Given the description of an element on the screen output the (x, y) to click on. 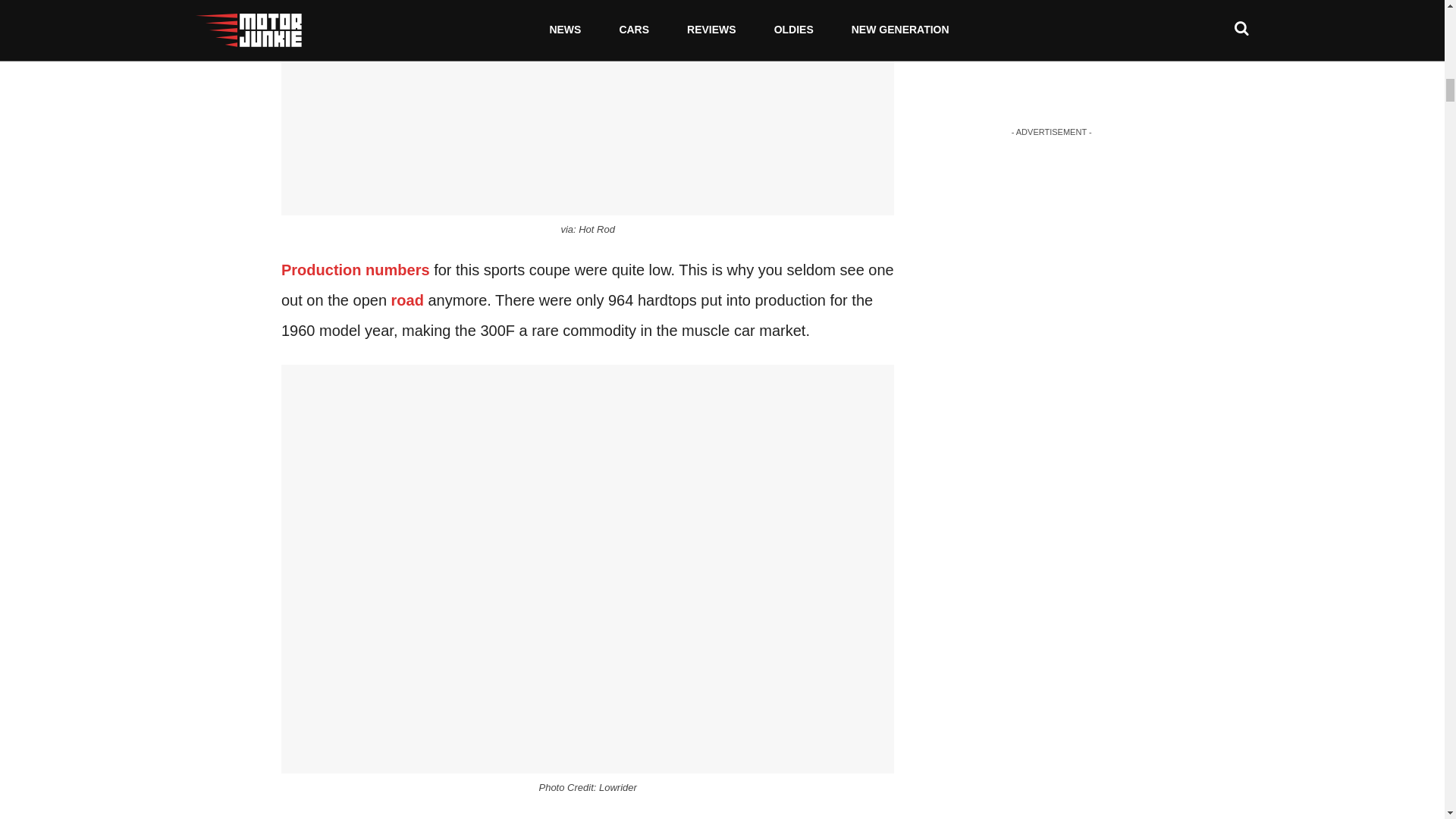
Production numbers (355, 269)
road (407, 299)
